Given the description of an element on the screen output the (x, y) to click on. 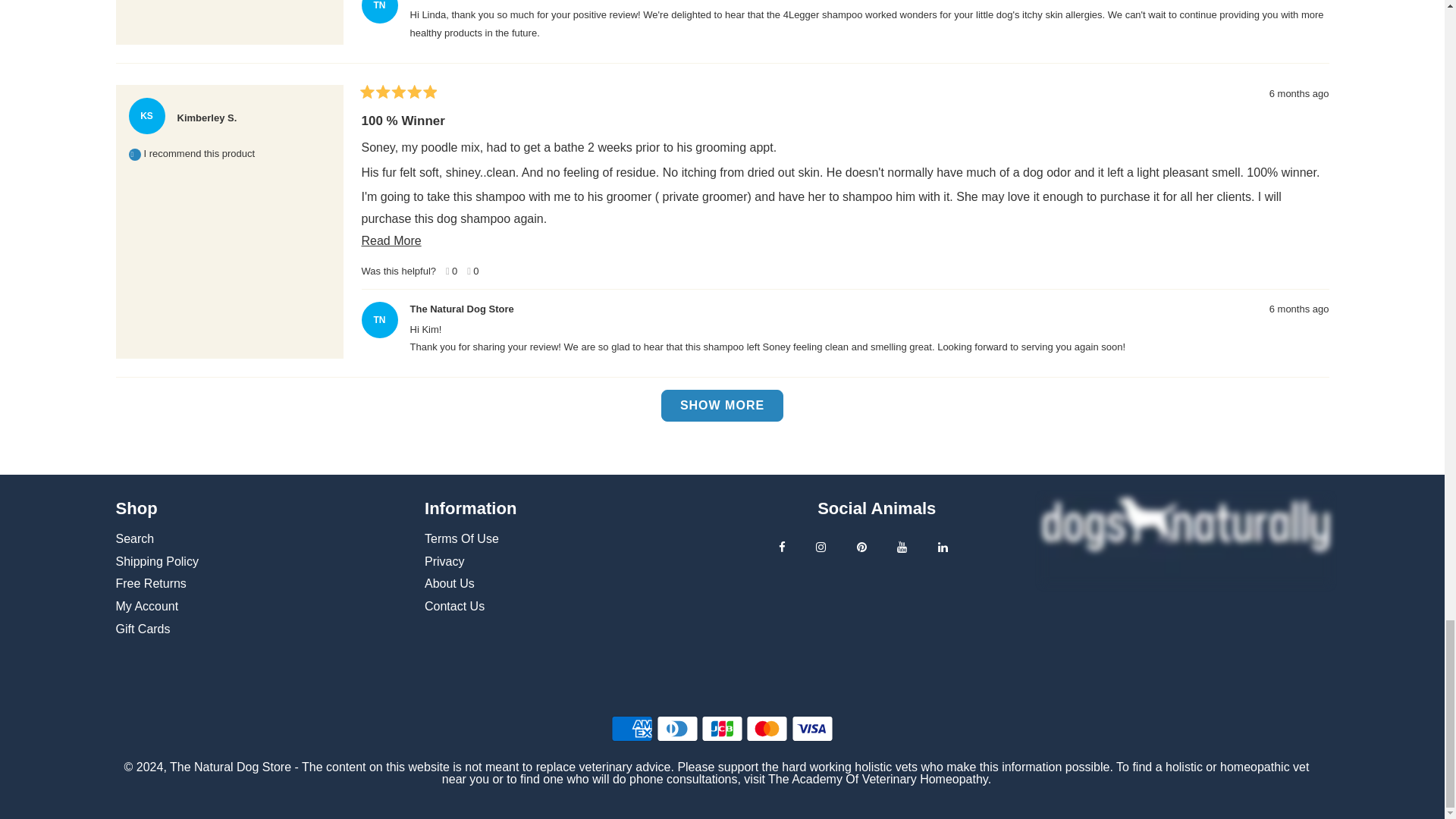
from United States (248, 111)
